Given the description of an element on the screen output the (x, y) to click on. 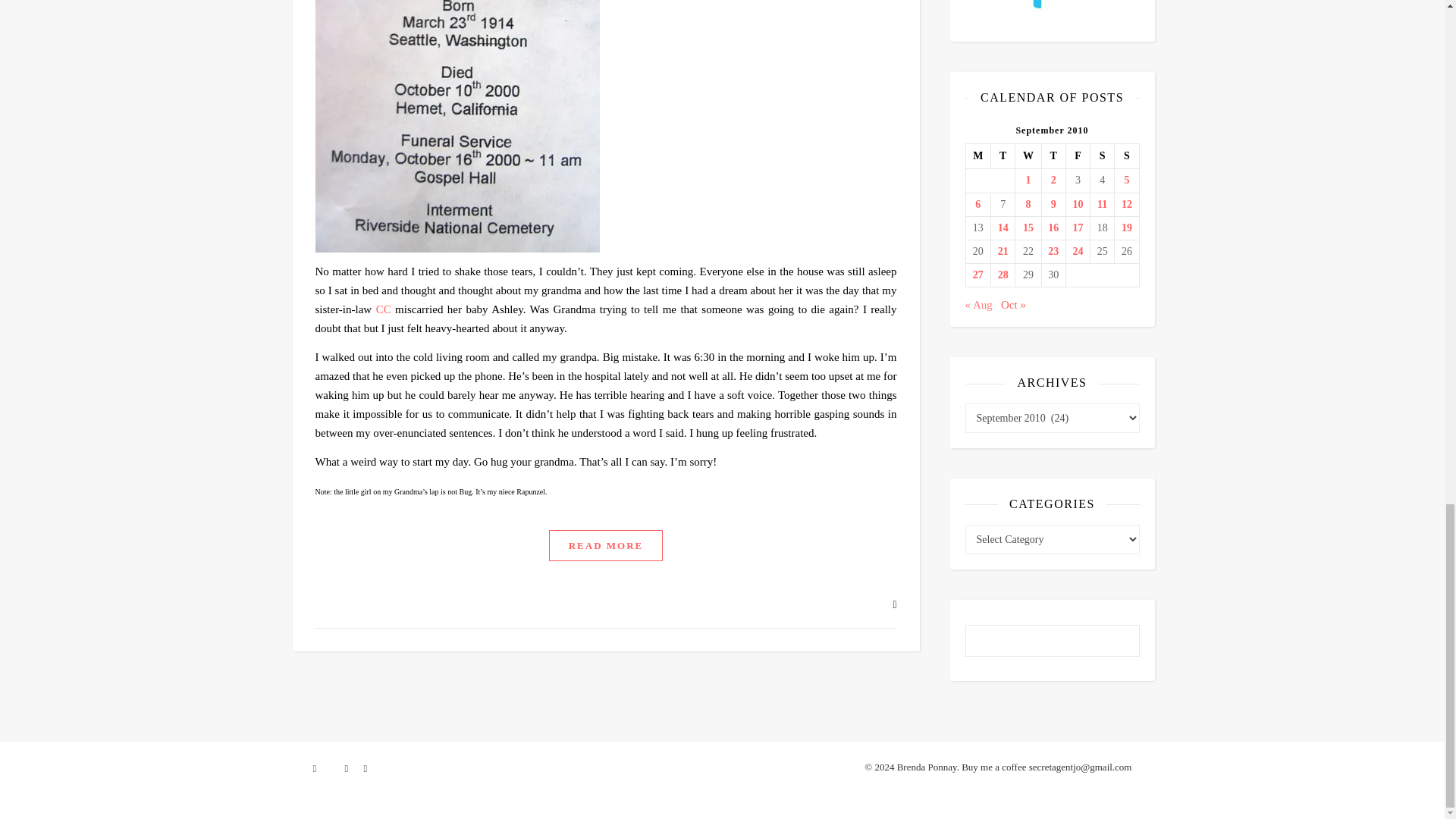
Tuesday (1002, 156)
8 (1027, 204)
9 (1052, 204)
Friday (1077, 156)
Wednesday (1027, 156)
READ MORE (605, 544)
Thursday (1053, 156)
2 (1052, 180)
11 (1102, 204)
1 (1027, 180)
